Given the description of an element on the screen output the (x, y) to click on. 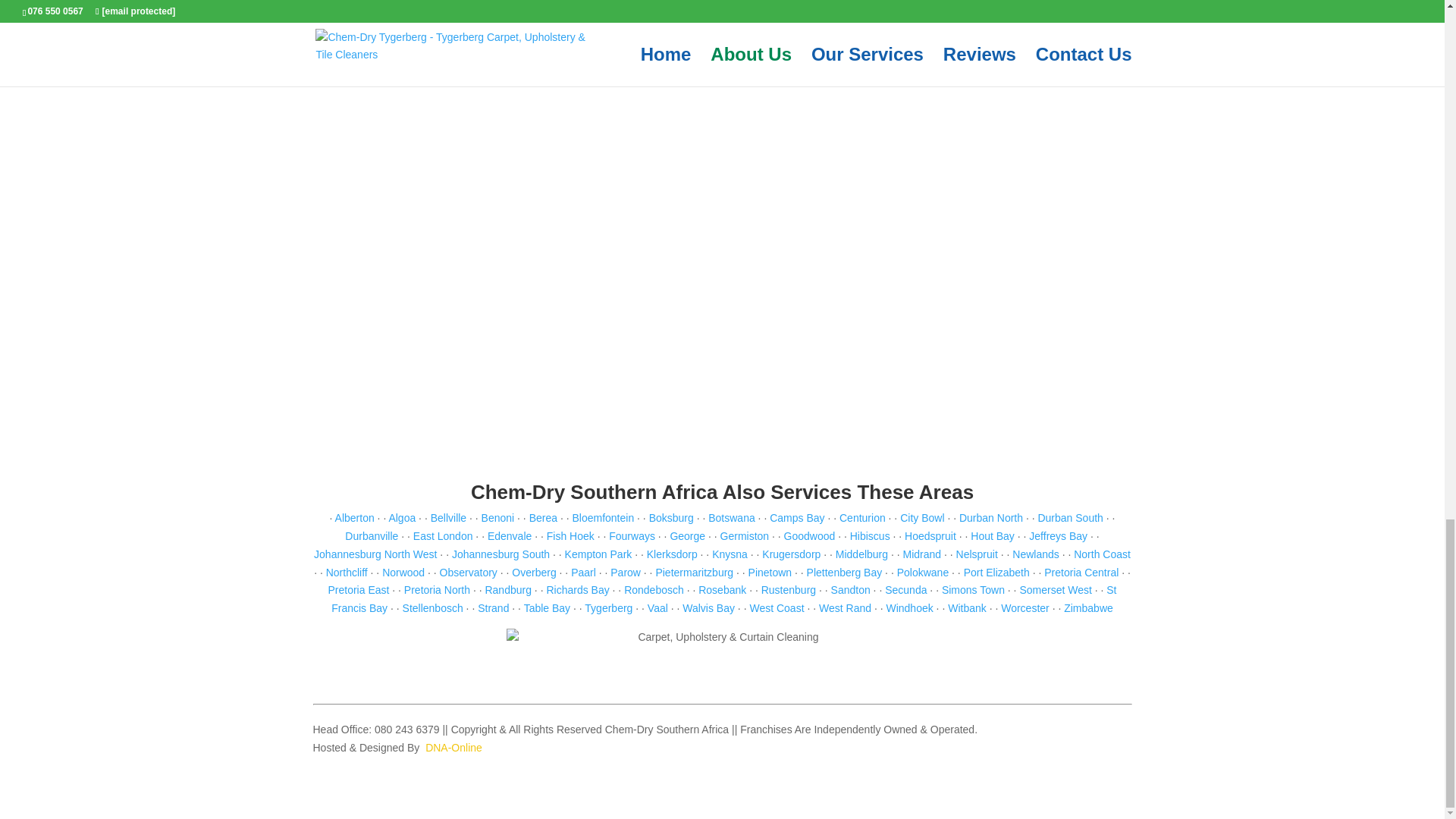
Johannesburg South (500, 553)
Durban South (1069, 517)
Hibiscus (869, 535)
Hout Bay (992, 535)
Johannesburg North West (375, 553)
Goodwood (809, 535)
City Bowl (921, 517)
Fish Hoek (570, 535)
East London (443, 535)
Bellville (447, 517)
Durban North (991, 517)
Centurion (862, 517)
Benoni (498, 517)
Knysna (729, 553)
Algoa (401, 517)
